Given the description of an element on the screen output the (x, y) to click on. 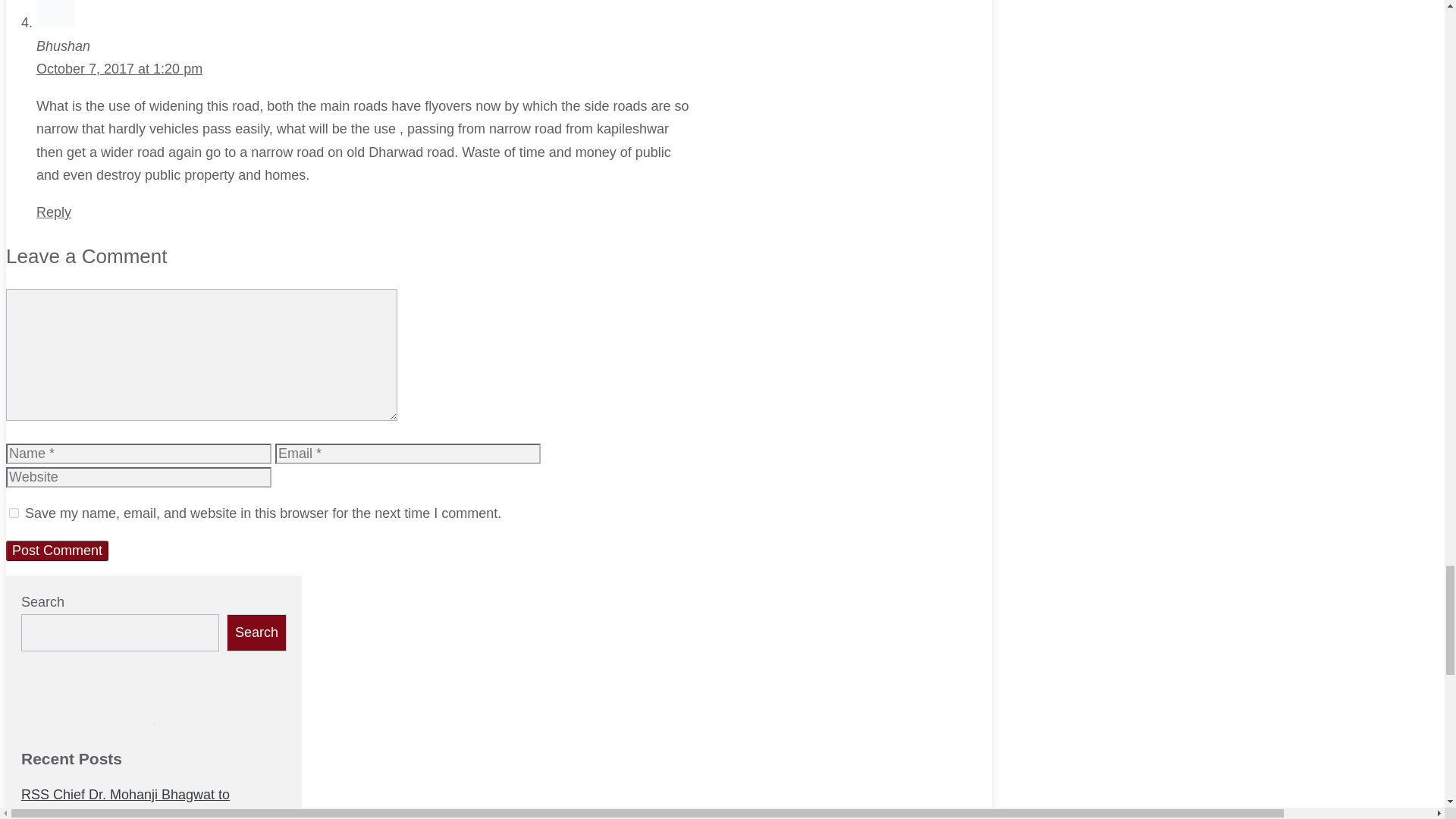
Reply (53, 212)
Post Comment (56, 550)
yes (13, 512)
October 7, 2017 at 1:20 pm (119, 68)
